Given the description of an element on the screen output the (x, y) to click on. 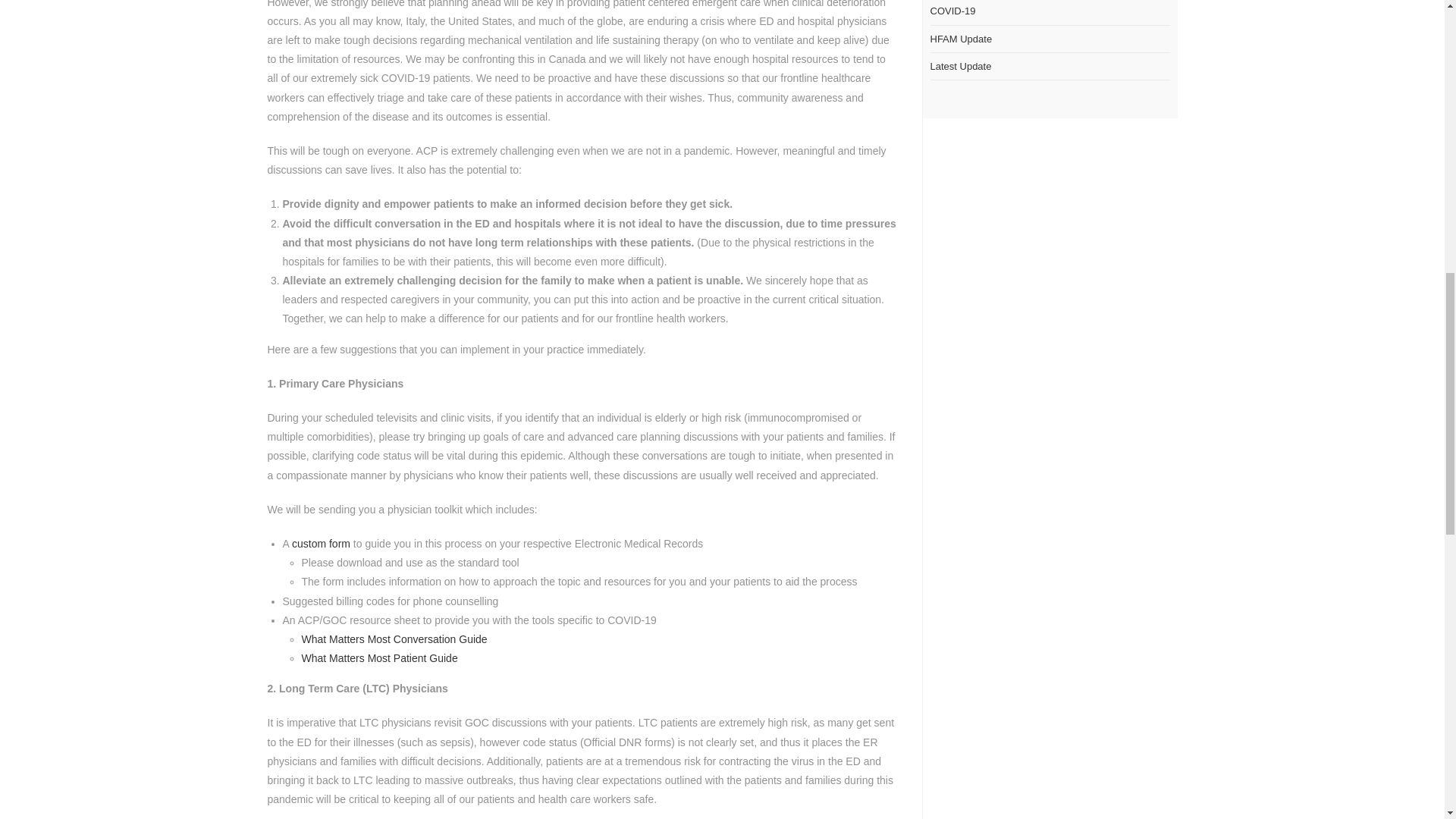
What Matters Most Patient Guide (379, 657)
What Matters Most Conversation Guide (394, 639)
custom form (321, 543)
